Given the description of an element on the screen output the (x, y) to click on. 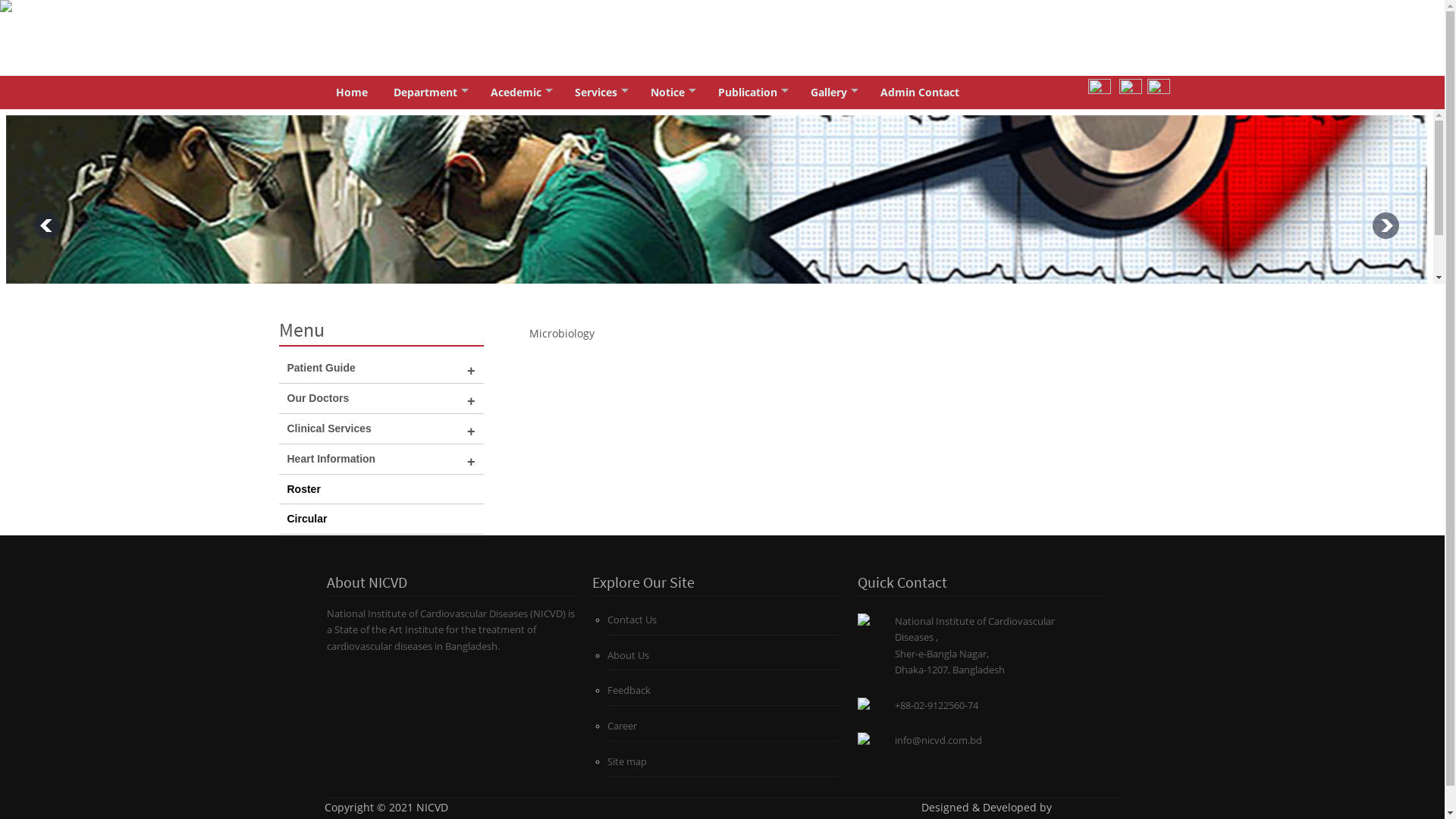
Gallery Element type: text (832, 92)
Home Element type: text (351, 92)
Department Element type: text (429, 92)
Contact Us Element type: text (631, 619)
Notice Element type: text (670, 92)
Feedback Element type: text (628, 690)
Youtube Element type: hover (1157, 88)
Site map Element type: text (626, 761)
Facebook Element type: hover (1130, 88)
Career Element type: text (622, 725)
About Us Element type: text (628, 655)
Publication Element type: text (751, 92)
Services Element type: text (598, 92)
Circular Element type: text (306, 518)
Roster Element type: text (303, 489)
Twitter Element type: hover (1098, 88)
Acedemic Element type: text (519, 92)
Admin Contact Element type: text (919, 92)
